Given the description of an element on the screen output the (x, y) to click on. 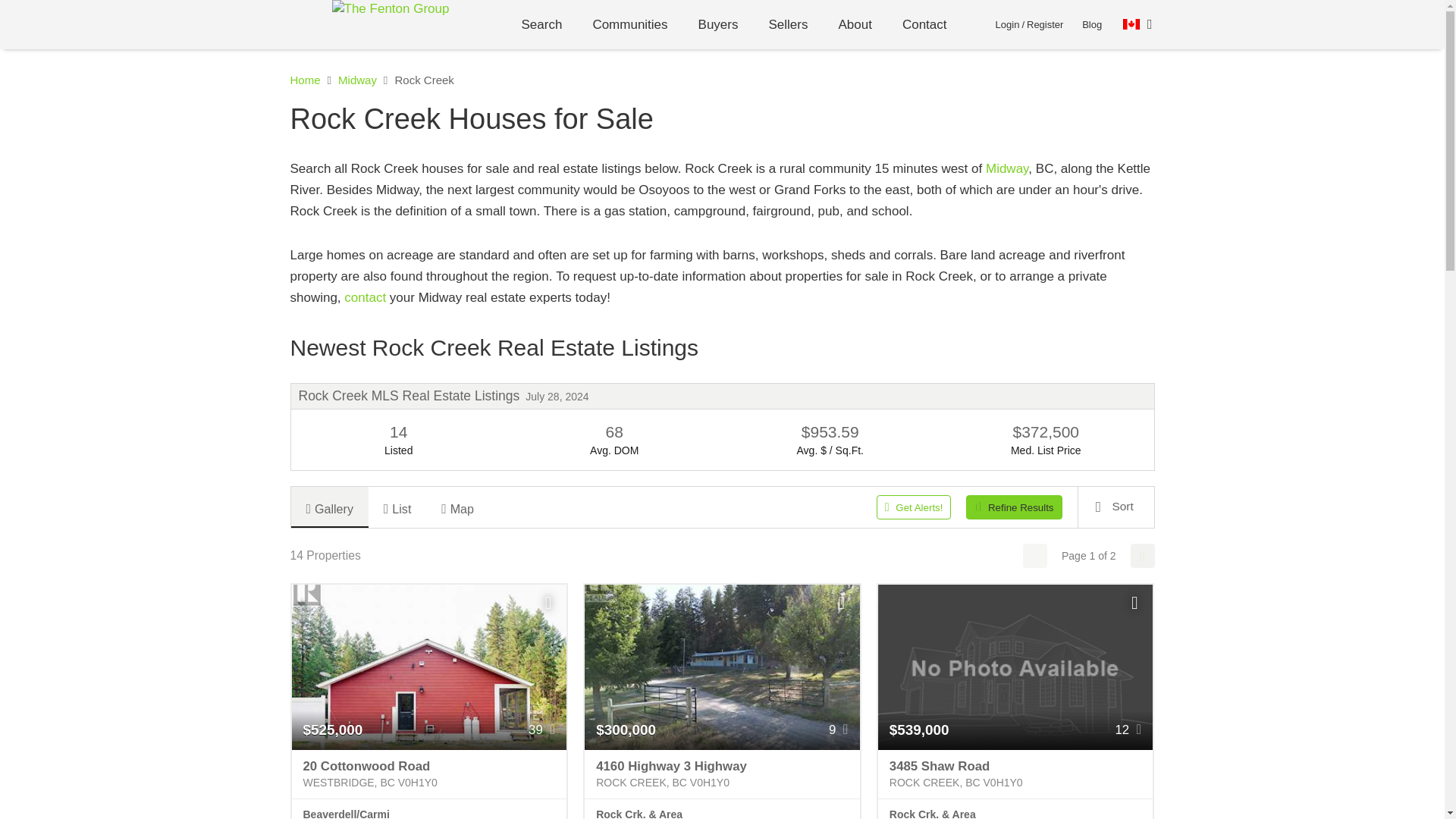
Register (1044, 24)
20 Cottonwood Road Westbridge,  BC V0H1Y0 (428, 774)
Sellers (789, 24)
Select Language (1137, 24)
Communities (629, 24)
4160 Highway 3 Highway Rock Creek,  BC V0H1Y0 (722, 774)
Contact (924, 24)
3485 Shaw Road Rock Creek,  BC V0H1Y0 (1015, 774)
About (854, 24)
Search (542, 24)
Buyers (718, 24)
